Given the description of an element on the screen output the (x, y) to click on. 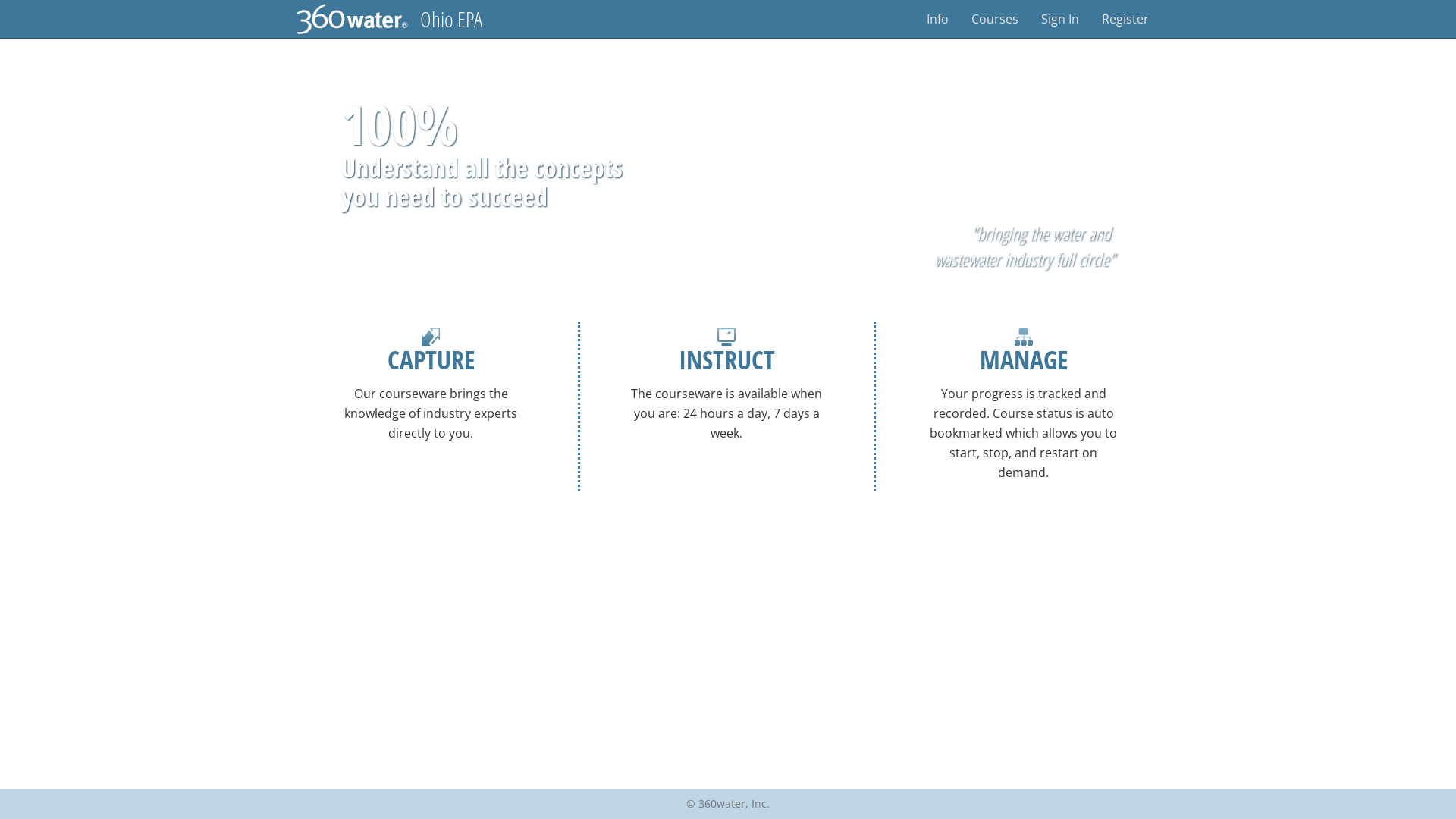
Info Element type: text (937, 18)
Ohio EPA Element type: text (450, 18)
Courses Element type: text (994, 18)
Sign In Element type: text (1059, 18)
Register Element type: text (1125, 18)
